Given the description of an element on the screen output the (x, y) to click on. 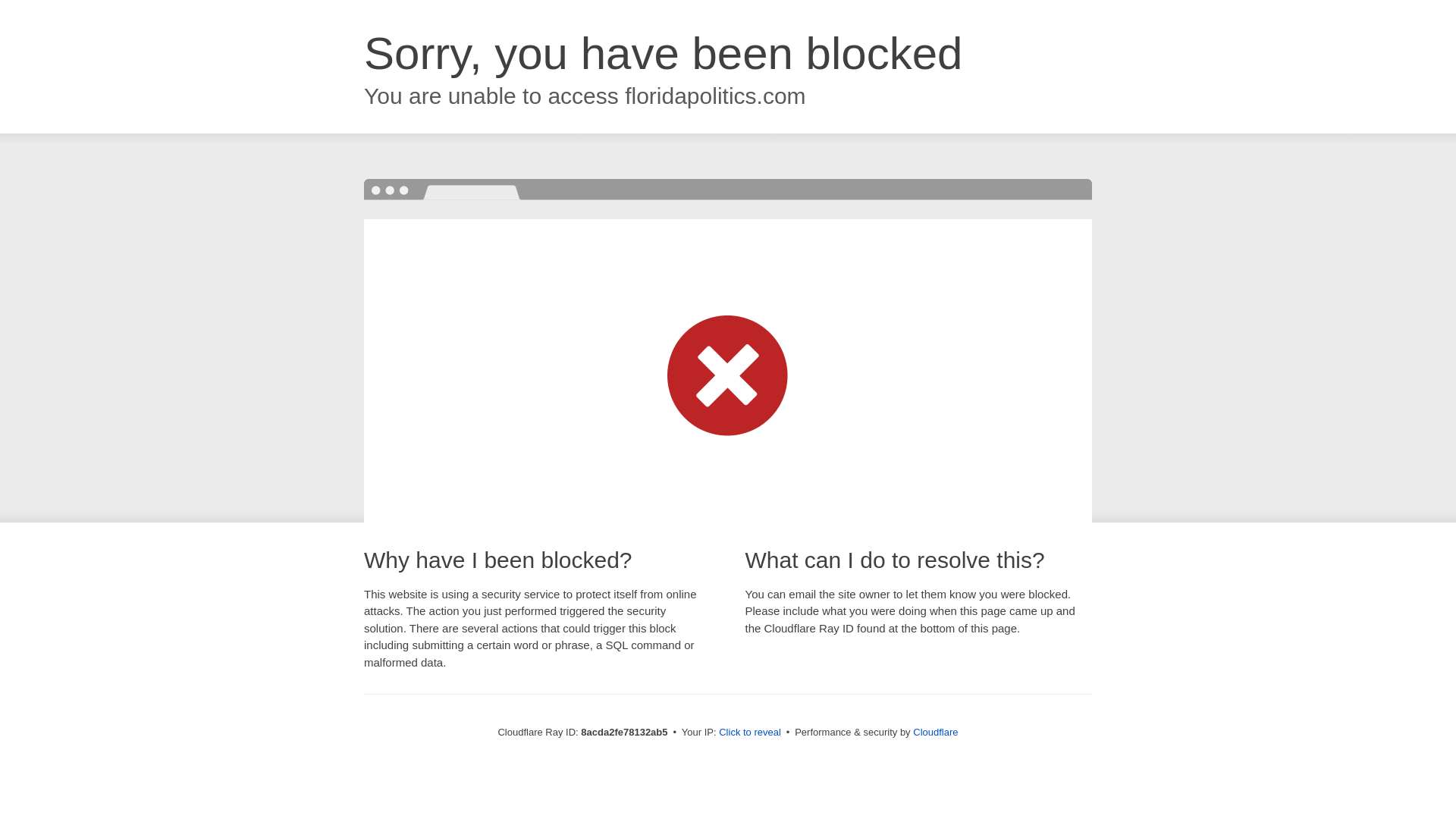
Click to reveal (749, 732)
Cloudflare (935, 731)
